Given the description of an element on the screen output the (x, y) to click on. 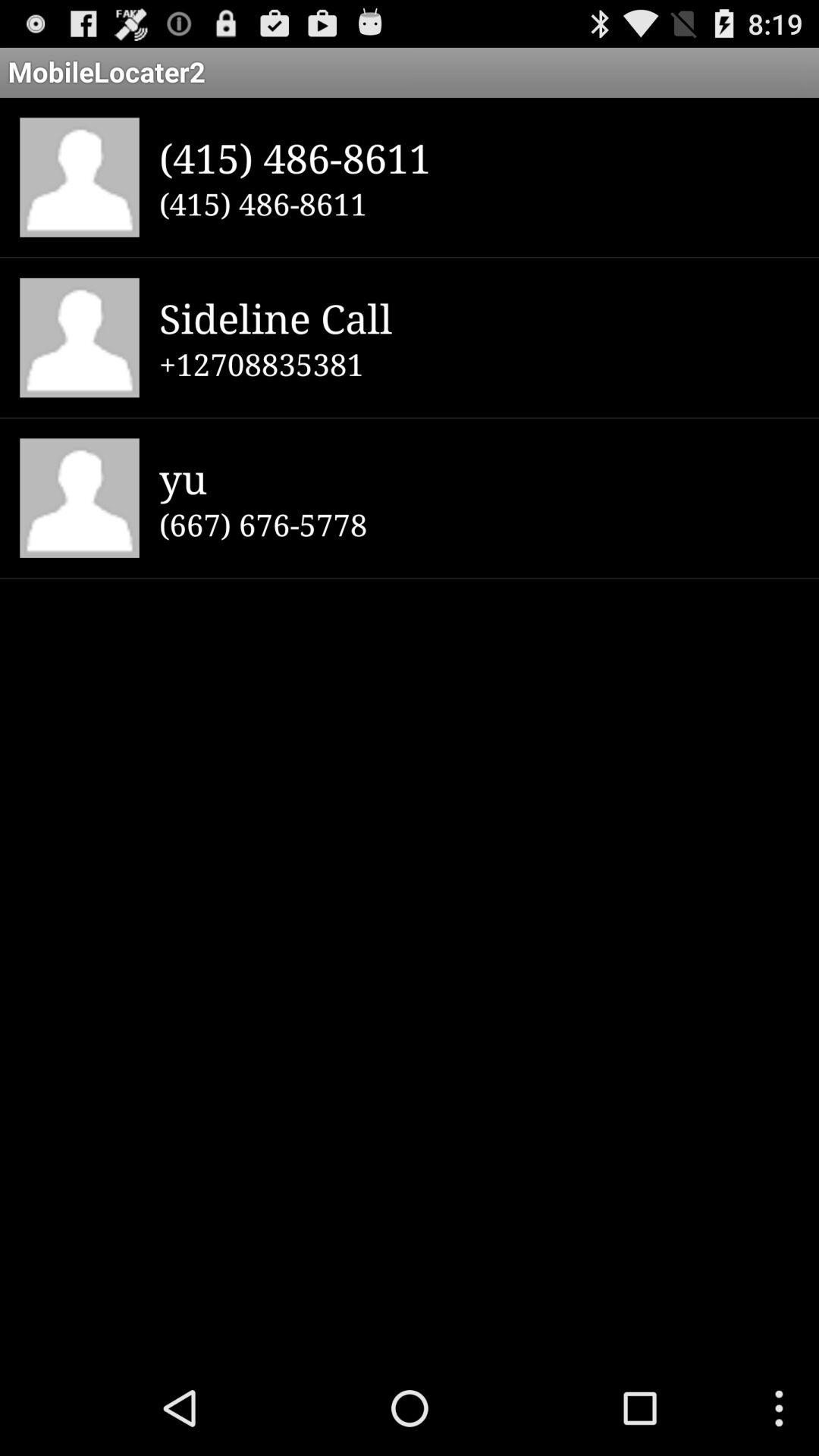
open the item above the +12708835381 app (479, 317)
